Given the description of an element on the screen output the (x, y) to click on. 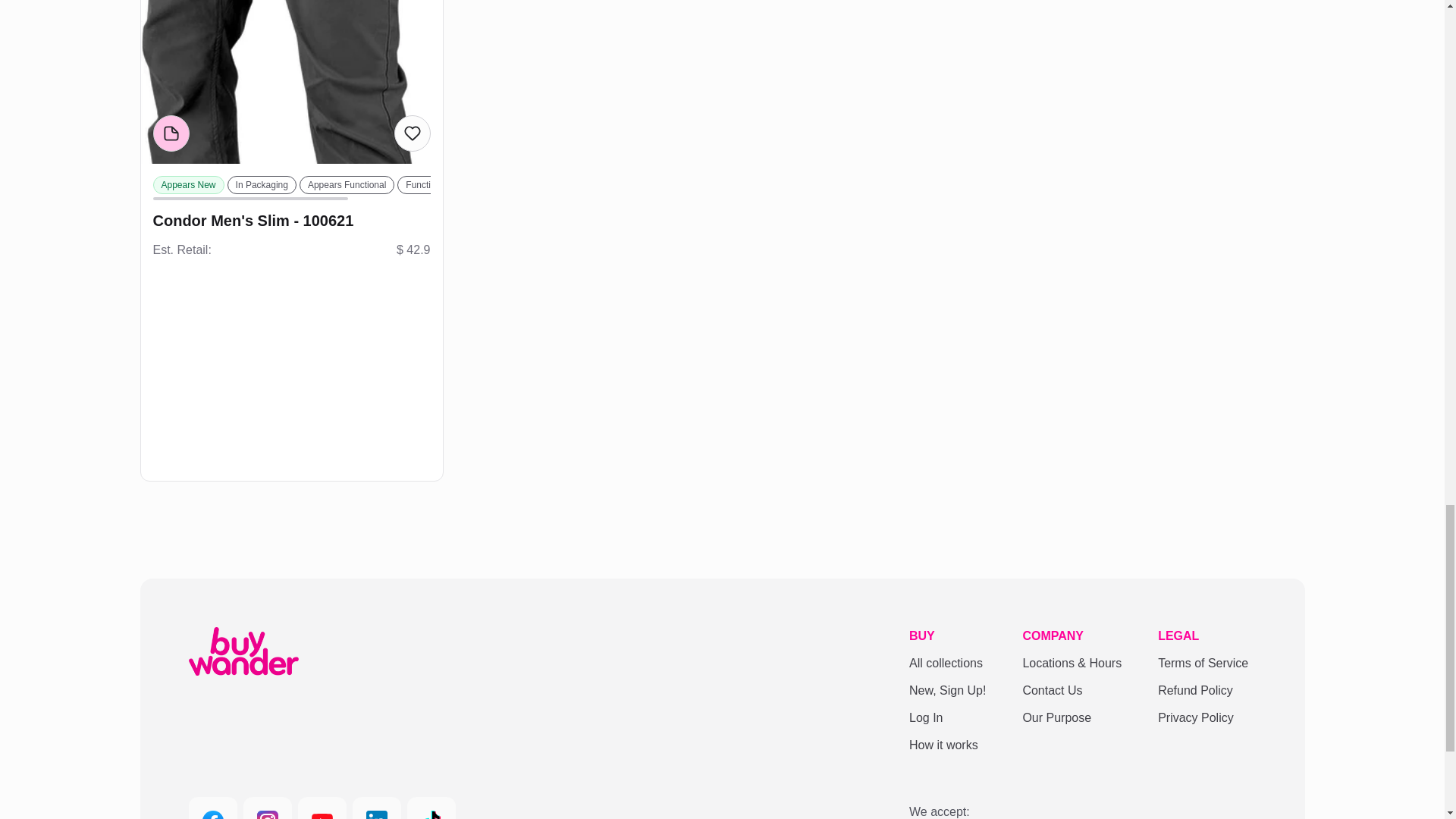
Refund Policy (1202, 690)
Instagram (267, 807)
All collections (946, 663)
How it works (946, 745)
Terms of Service (1202, 663)
Tiktok (430, 807)
Our Purpose (1071, 718)
Log In (946, 718)
Privacy Policy (1202, 718)
New, Sign Up! (946, 690)
YouTube (321, 807)
LinkedIn (376, 807)
Contact Us (1071, 690)
Condor Men's Slim - 100621 (291, 220)
